Given the description of an element on the screen output the (x, y) to click on. 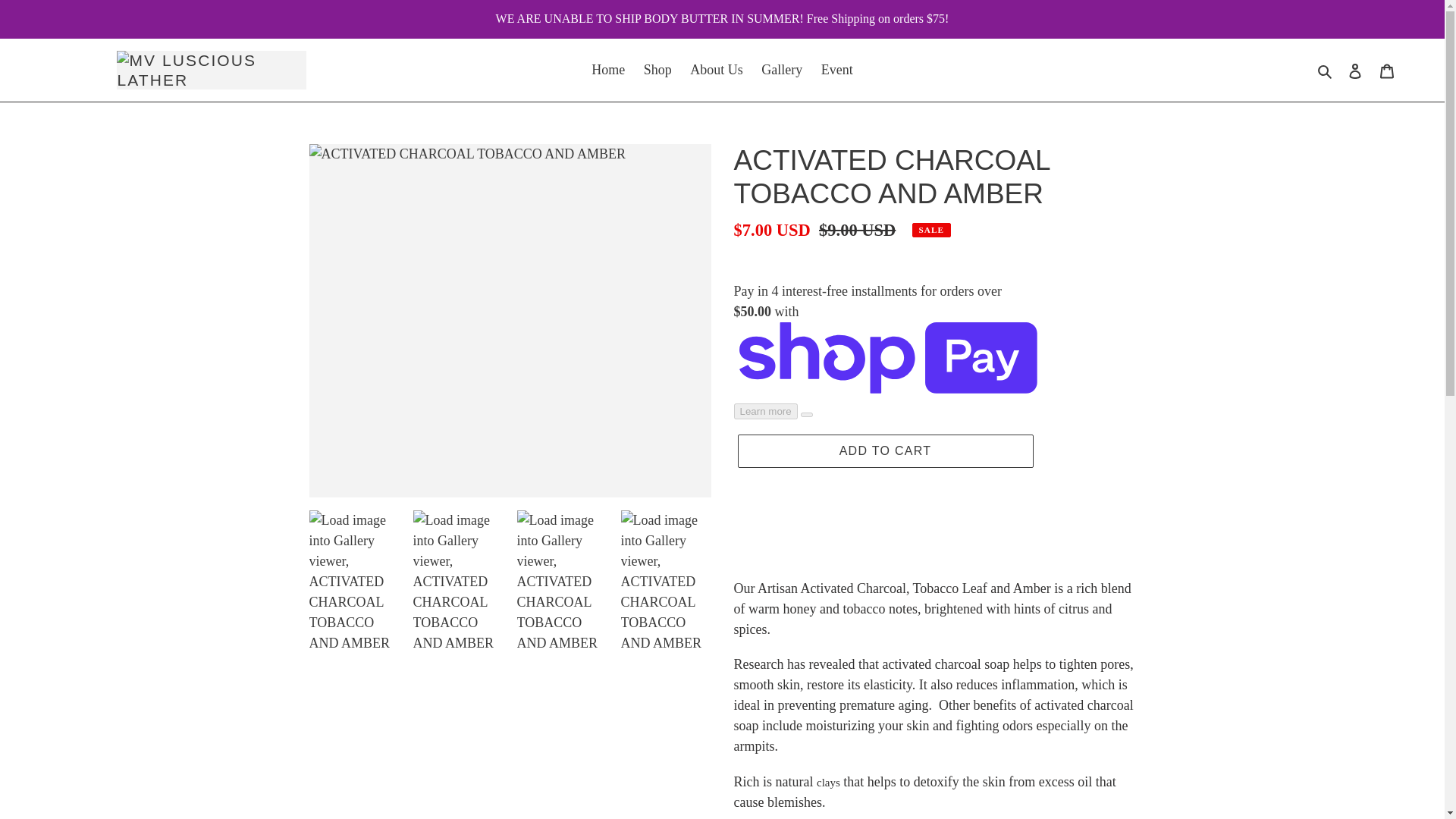
About Us (716, 69)
Search (1326, 69)
Event (836, 69)
Shop (657, 69)
Gallery (781, 69)
Home (607, 69)
Cart (1387, 69)
ADD TO CART (884, 450)
Log in (1355, 69)
